Given the description of an element on the screen output the (x, y) to click on. 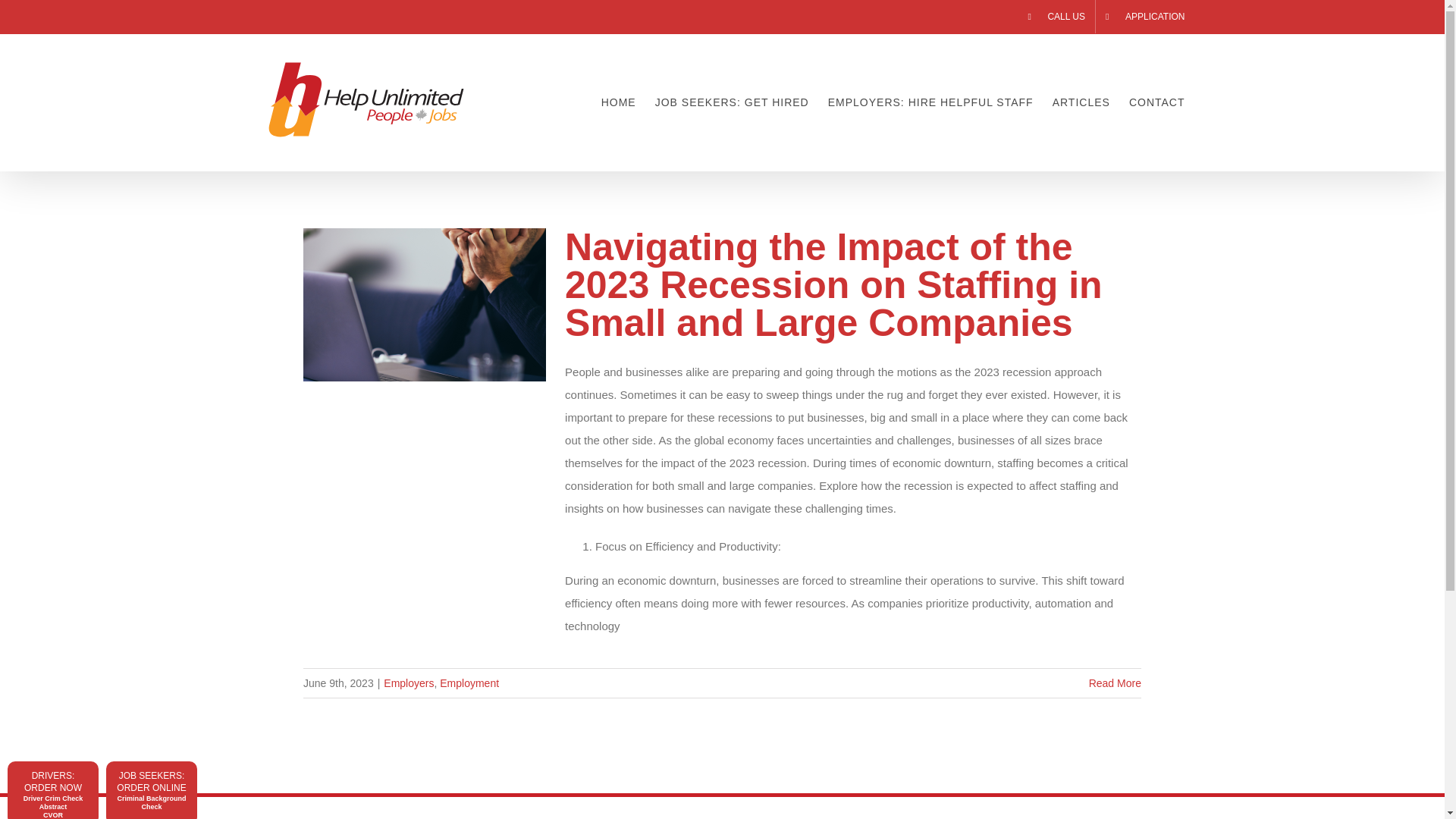
JOB SEEKERS: GET HIRED (732, 102)
CALL US (1055, 16)
APPLICATION (1140, 16)
EMPLOYERS: HIRE HELPFUL STAFF (930, 102)
